Given the description of an element on the screen output the (x, y) to click on. 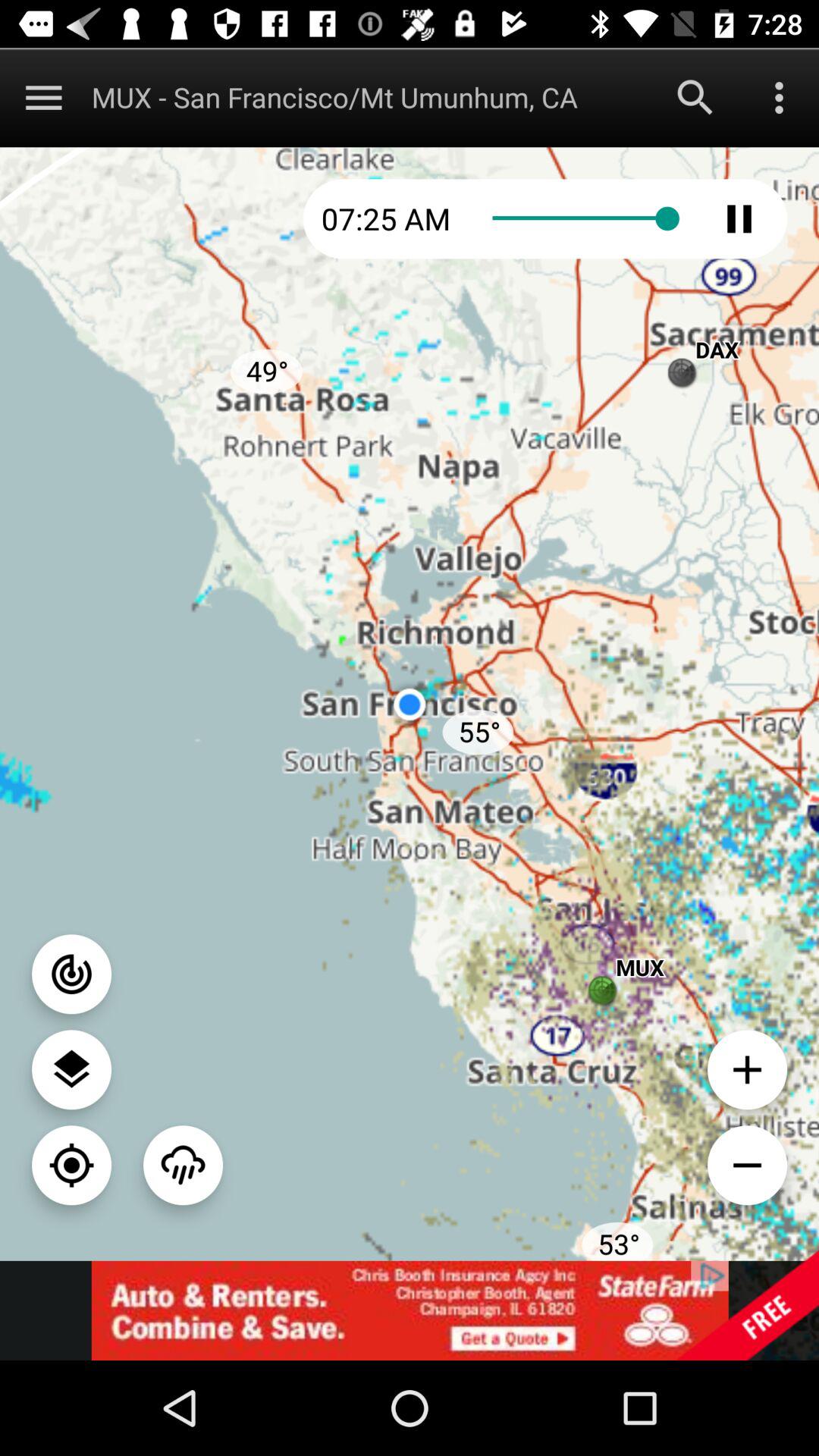
go to website (409, 1310)
